Given the description of an element on the screen output the (x, y) to click on. 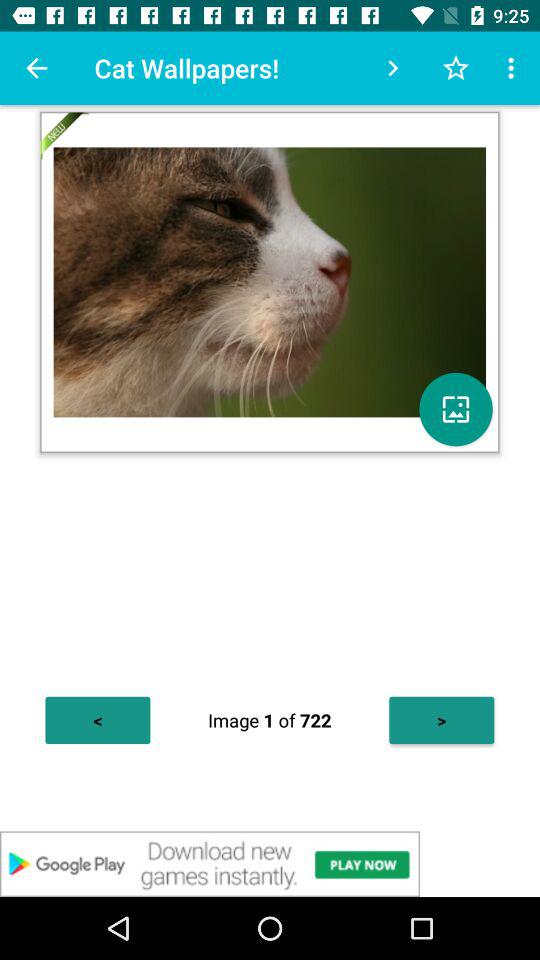
view advertisement in new app (270, 864)
